Given the description of an element on the screen output the (x, y) to click on. 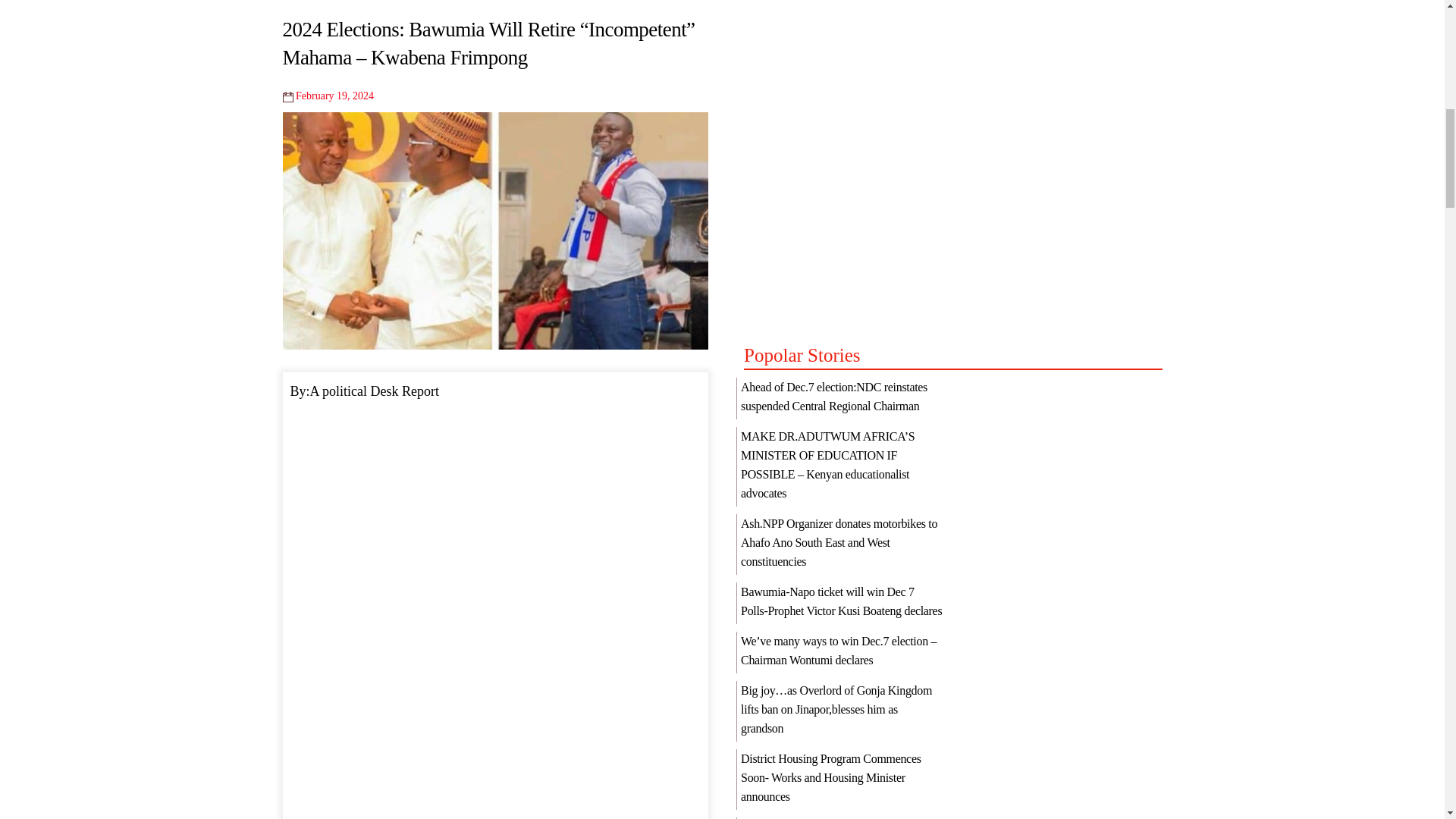
IMG-20240219-WA0090 (494, 230)
